Given the description of an element on the screen output the (x, y) to click on. 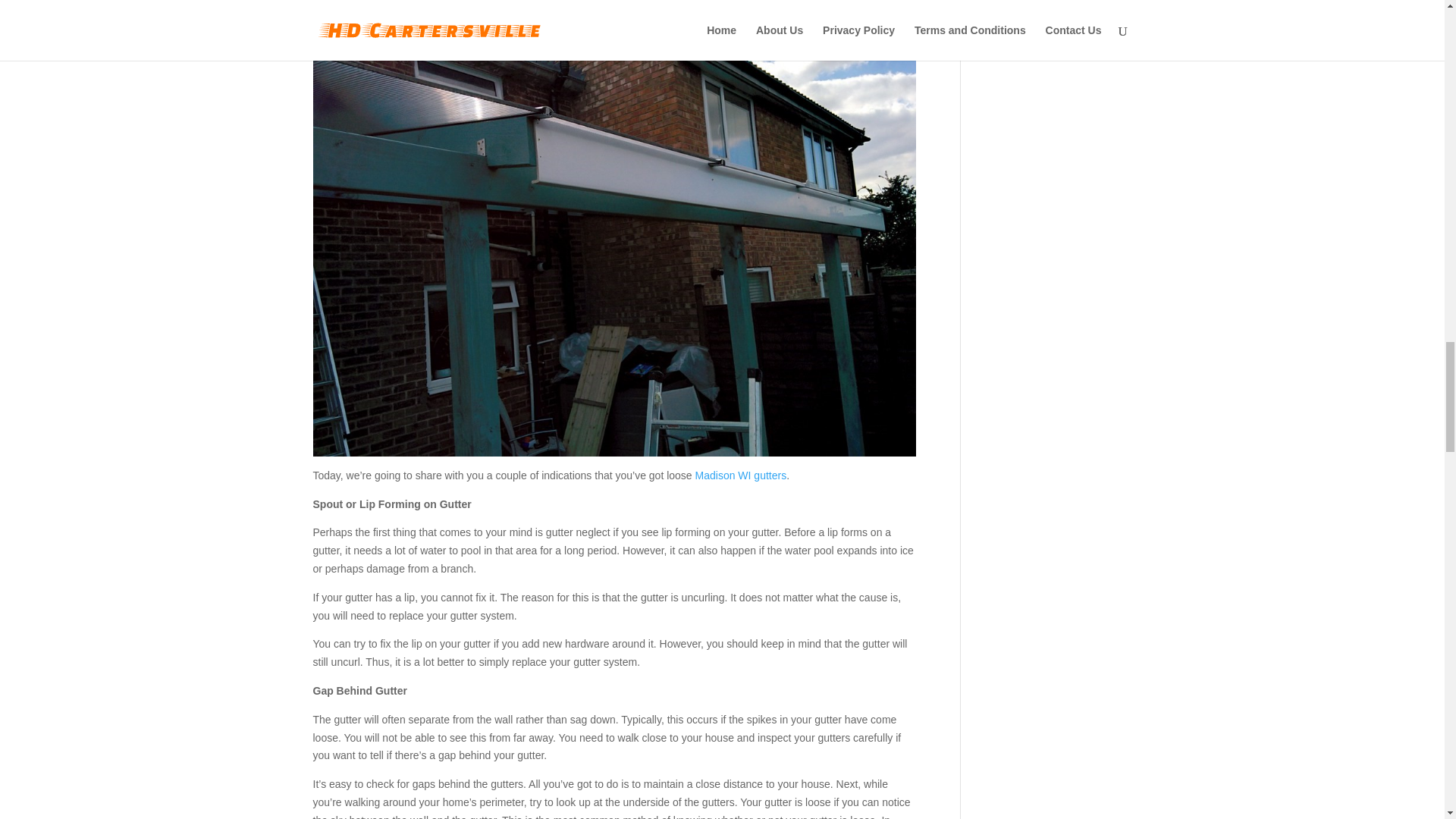
Madison WI gutters (741, 475)
